Given the description of an element on the screen output the (x, y) to click on. 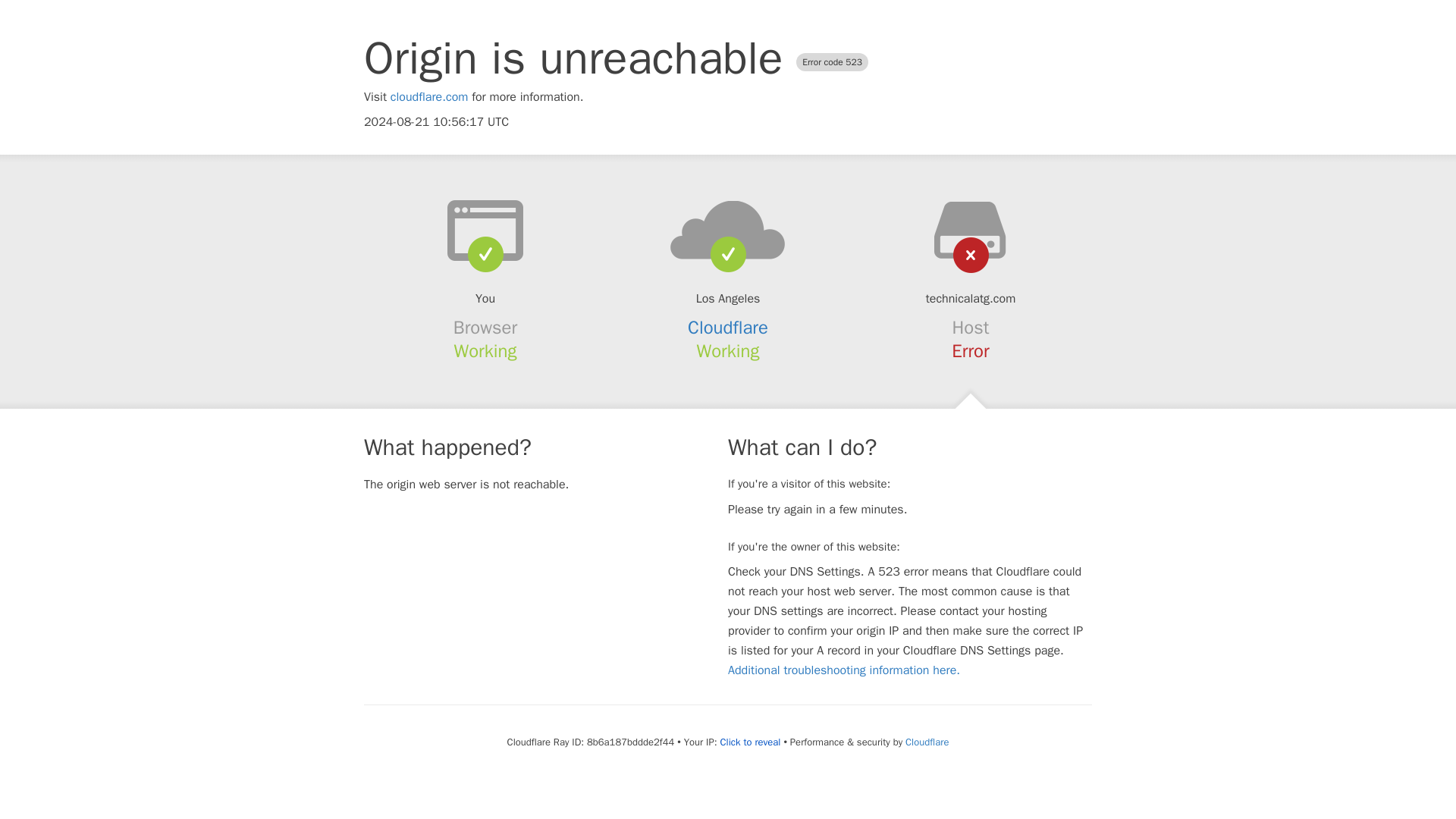
cloudflare.com (429, 96)
Click to reveal (750, 742)
Additional troubleshooting information here. (843, 670)
Cloudflare (727, 327)
Cloudflare (927, 741)
